Given the description of an element on the screen output the (x, y) to click on. 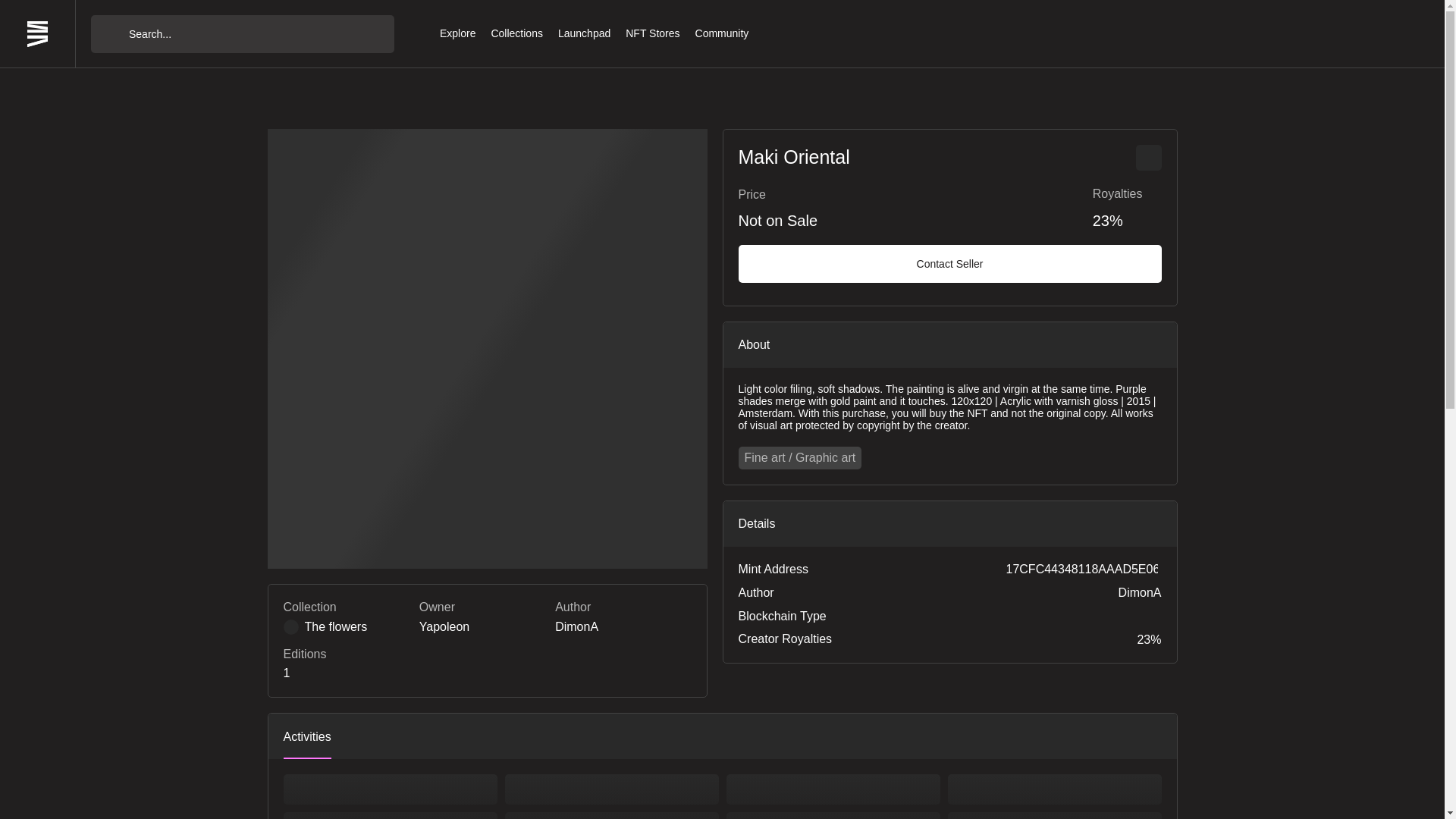
Contact Seller (949, 263)
DimonA (1139, 592)
DimonA (576, 627)
Yapoleon (443, 627)
The flowers (348, 627)
